Given the description of an element on the screen output the (x, y) to click on. 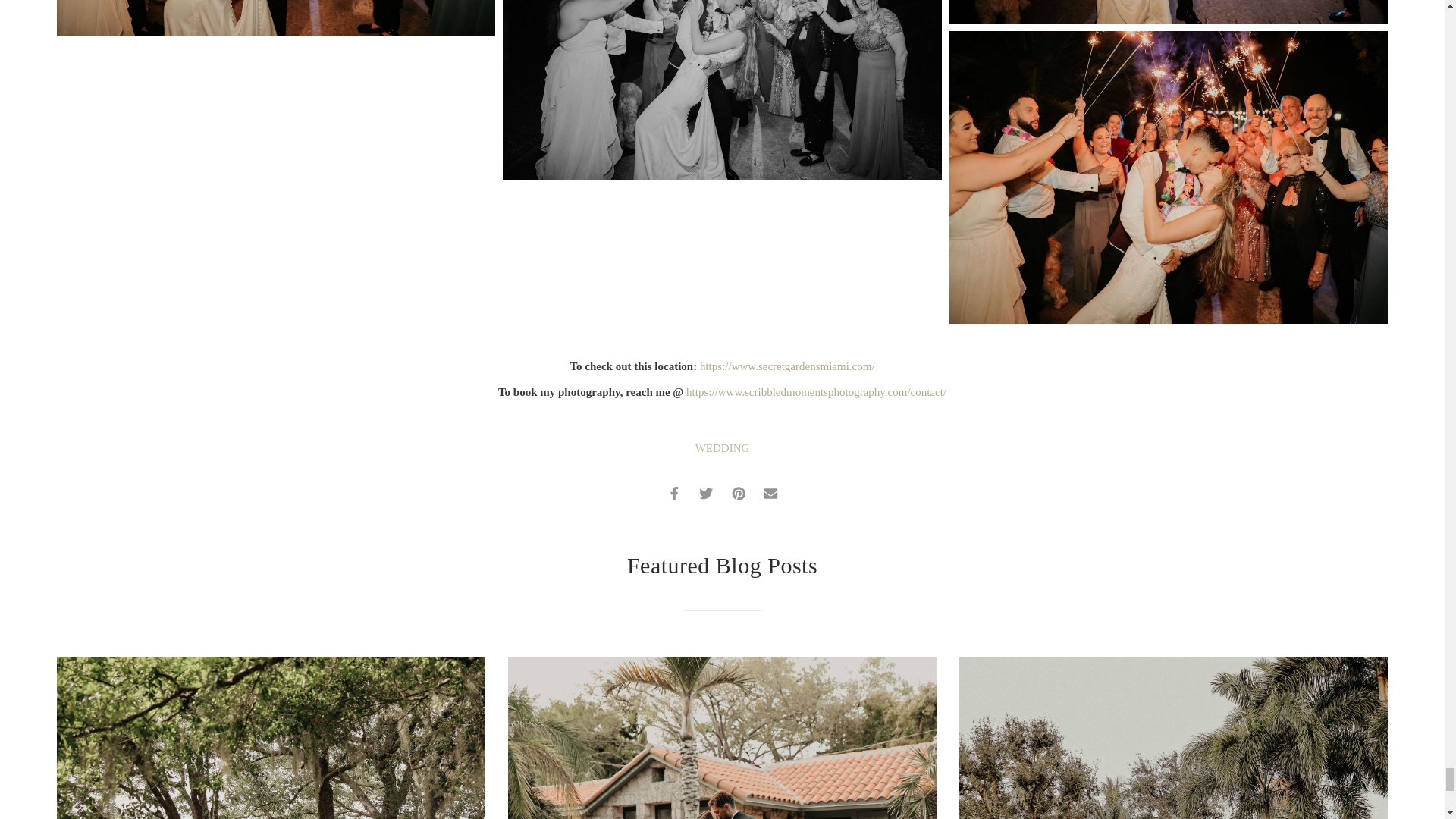
WEDDING (722, 448)
